Given the description of an element on the screen output the (x, y) to click on. 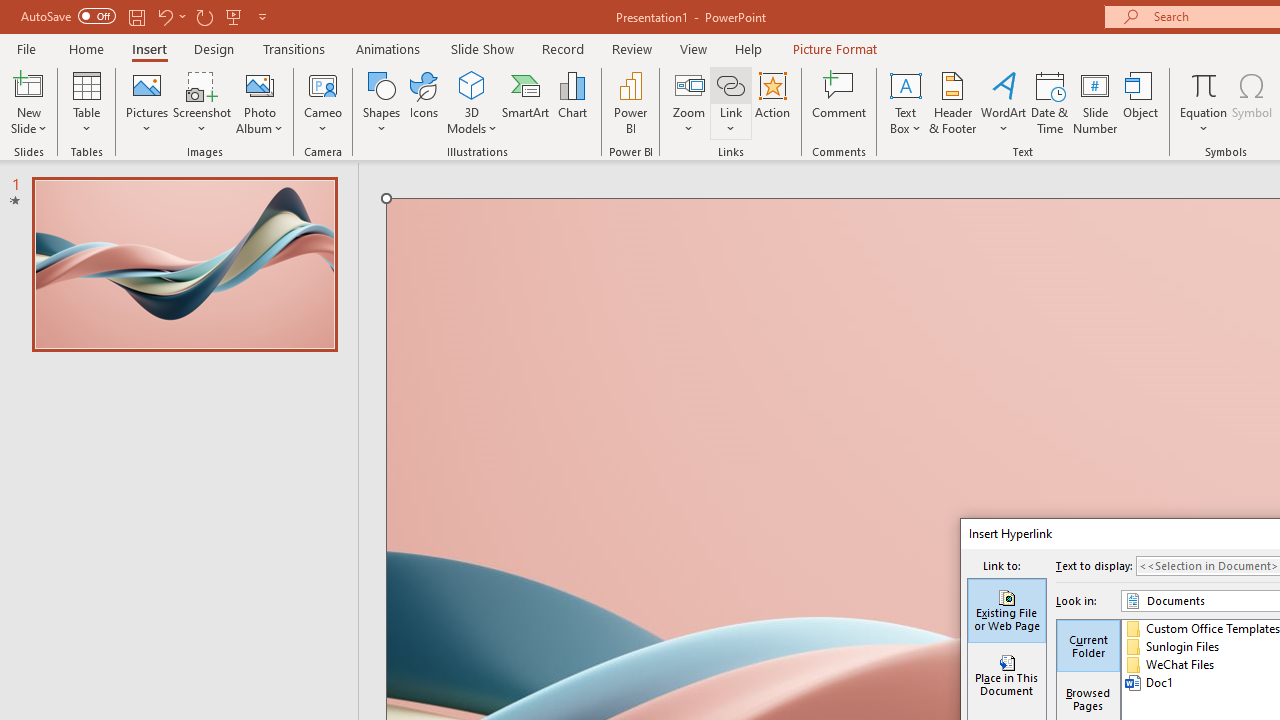
Table (86, 102)
Header & Footer... (952, 102)
Existing File or Web Page (1006, 610)
